Given the description of an element on the screen output the (x, y) to click on. 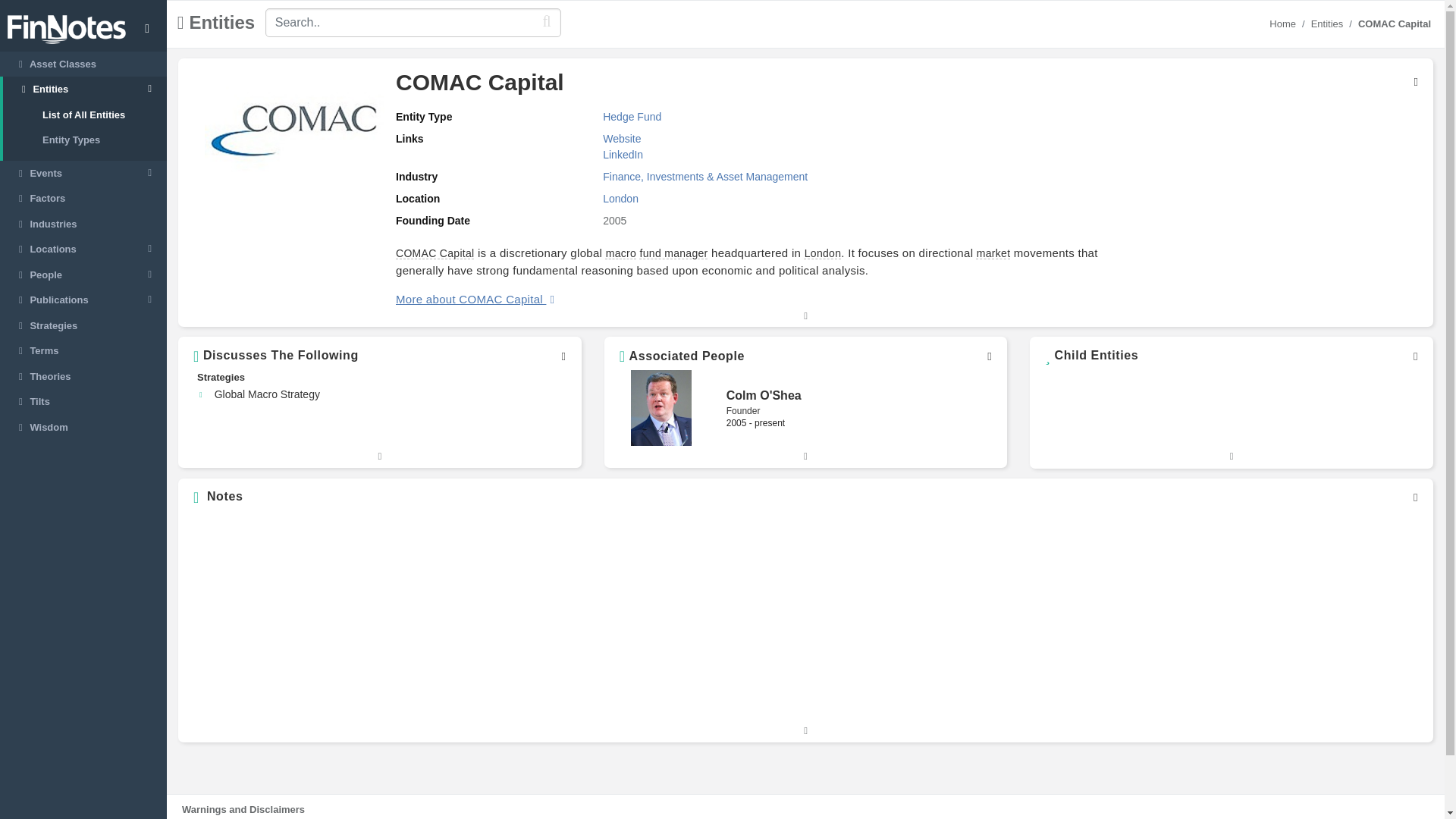
Entities (84, 89)
COMAC Capital (435, 253)
London (620, 198)
Factors (83, 198)
Home (1282, 23)
Industries (83, 224)
Entity Types (84, 140)
Locations (83, 249)
More about COMAC Capital (469, 298)
Terms (83, 350)
Entities (1327, 23)
London (823, 253)
market (993, 253)
Strategies (83, 325)
Tilts (83, 401)
